Given the description of an element on the screen output the (x, y) to click on. 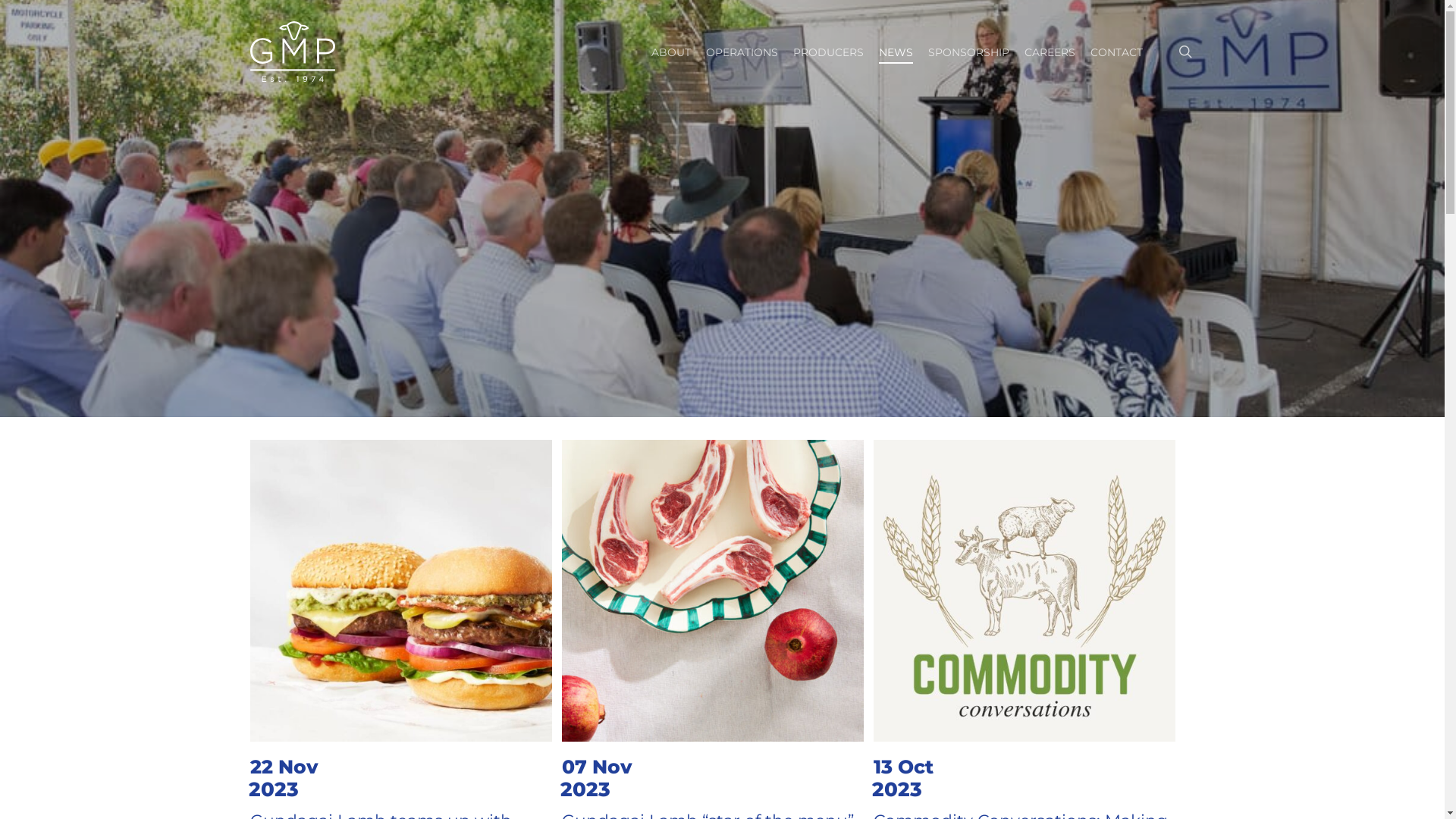
13 Oct
2023 Element type: text (905, 782)
CAREERS Element type: text (1049, 52)
CONTACT Element type: text (1116, 52)
ABOUT Element type: text (670, 52)
NEWS Element type: text (895, 52)
22 Nov
2023 Element type: text (286, 782)
PRODUCERS Element type: text (828, 52)
search Element type: text (1185, 51)
SPONSORSHIP Element type: text (968, 52)
07 Nov
2023 Element type: text (598, 782)
OPERATIONS Element type: text (742, 52)
